Given the description of an element on the screen output the (x, y) to click on. 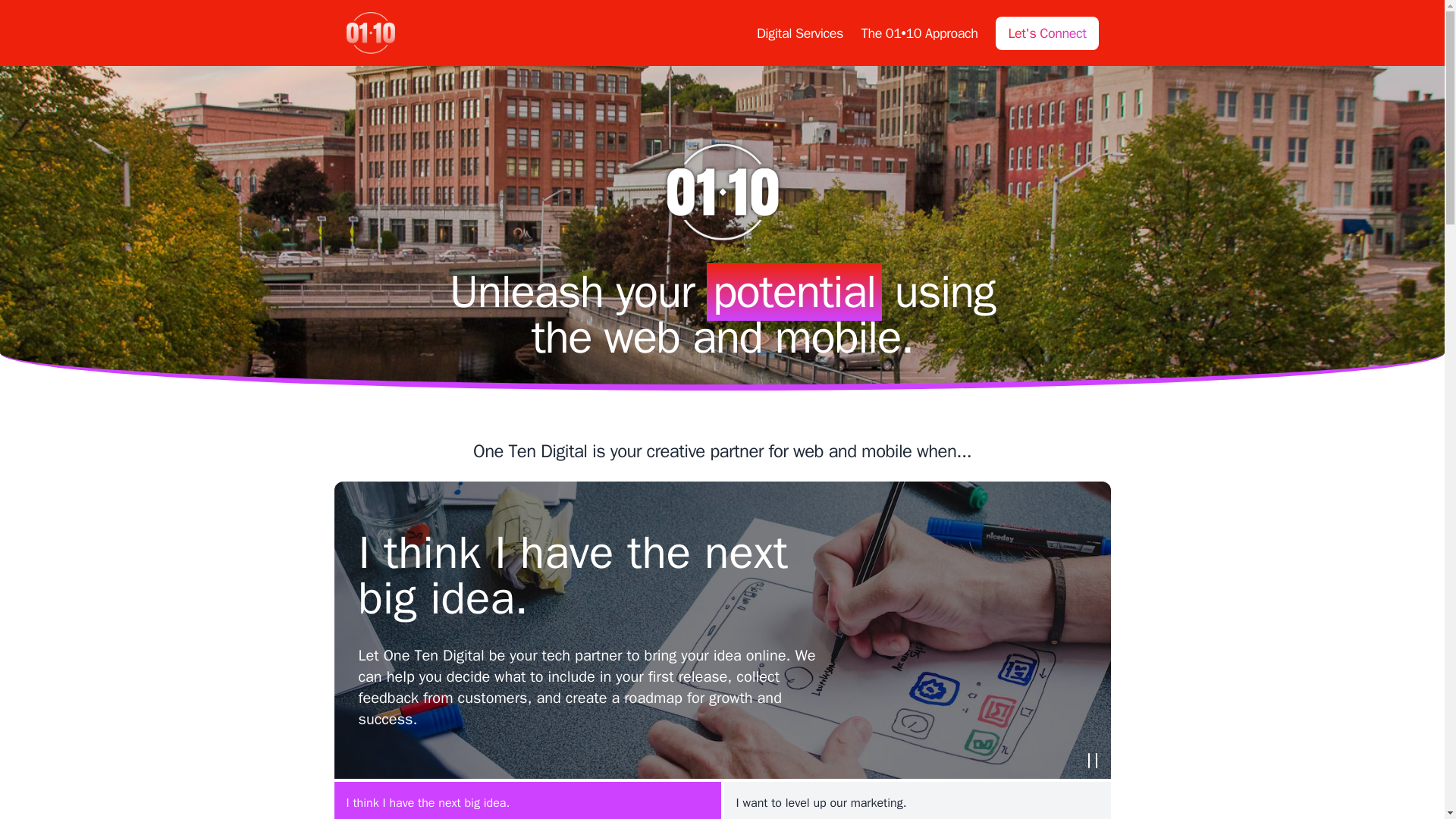
I want to level up our marketing. (916, 800)
Let's Connect (1046, 32)
Digital Services (800, 33)
I think I have the next big idea. (526, 800)
Slideshow (1091, 760)
